Given the description of an element on the screen output the (x, y) to click on. 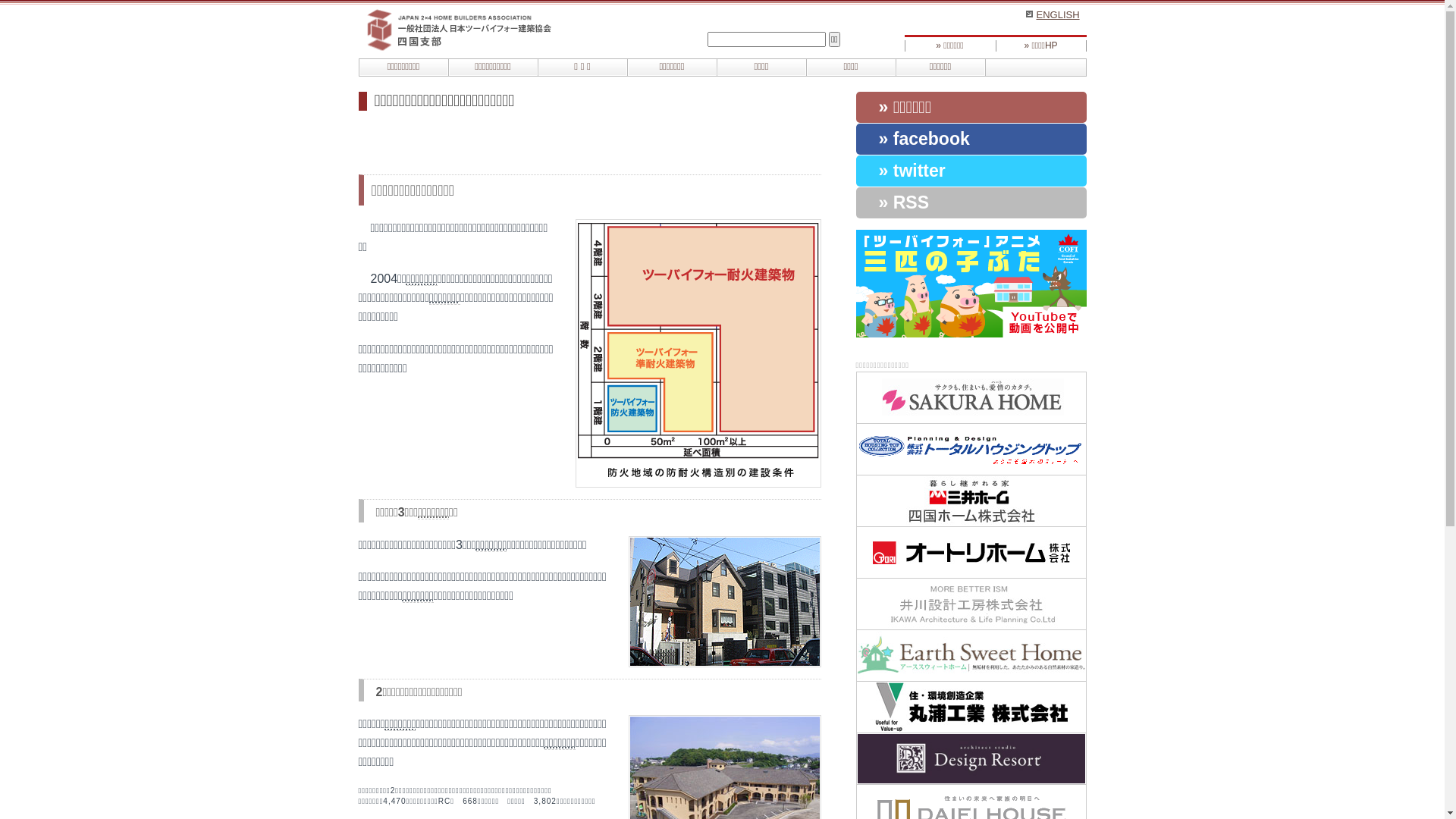
ENGLISH Element type: text (1052, 14)
